Given the description of an element on the screen output the (x, y) to click on. 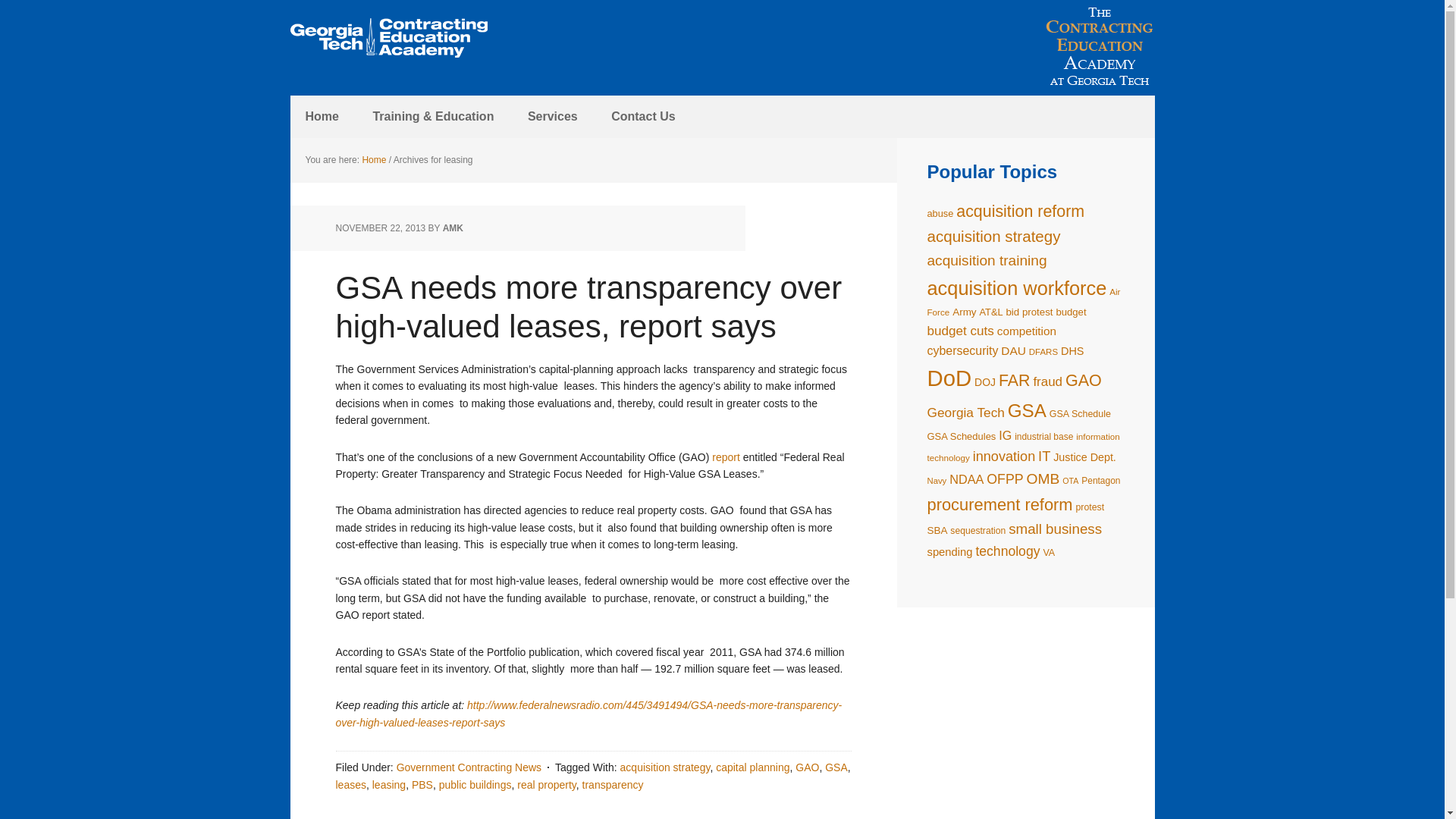
budget (1070, 311)
budget cuts (959, 330)
transparency (612, 784)
Army (963, 311)
Home (373, 159)
abuse (939, 213)
AMK (452, 227)
PBS (422, 784)
leasing (389, 784)
acquisition reform (1020, 211)
DOJ (984, 381)
Home (321, 116)
acquisition strategy (665, 767)
DFARS (1043, 351)
acquisition strategy (992, 235)
